Given the description of an element on the screen output the (x, y) to click on. 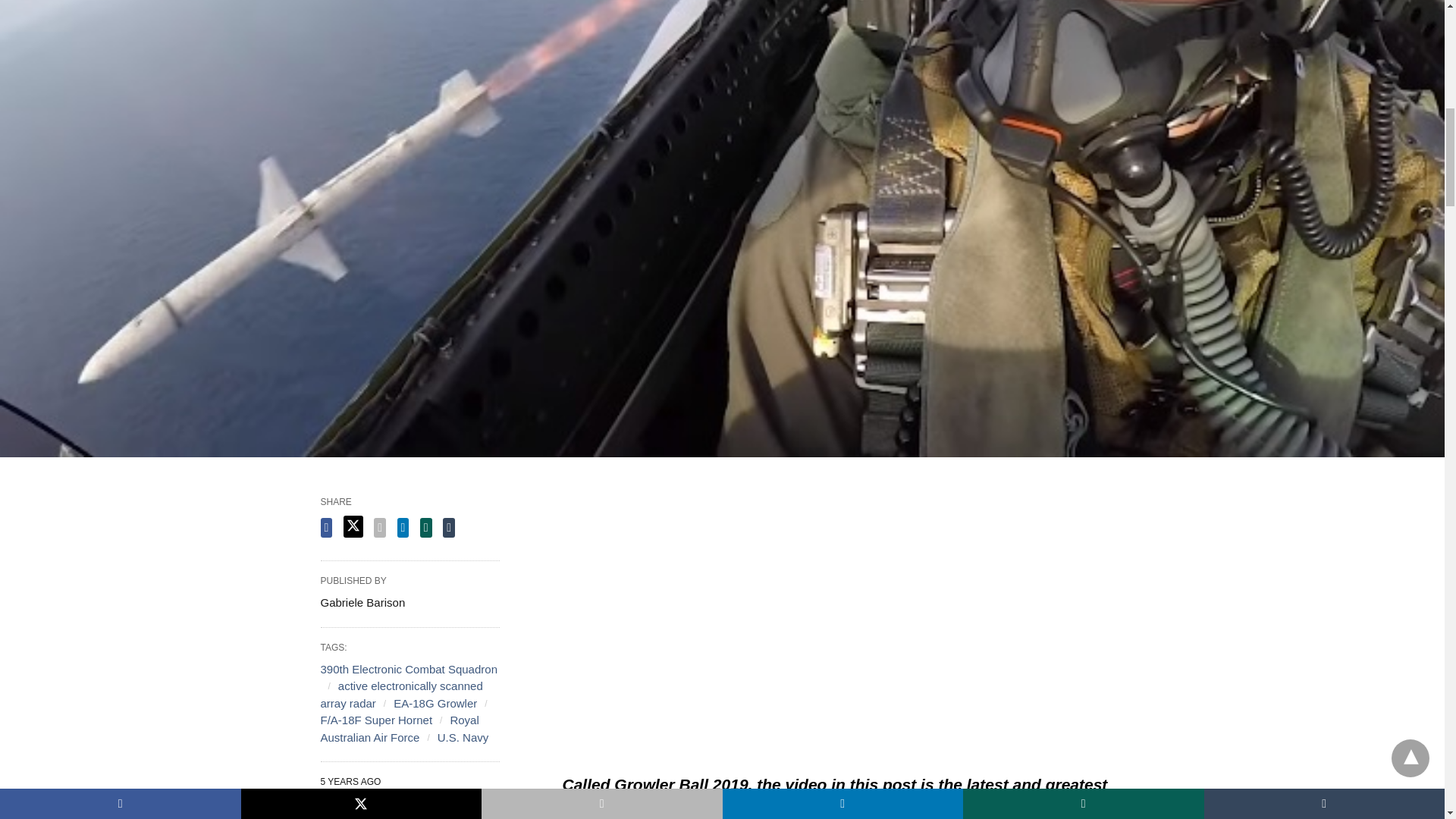
Royal Australian Air Force (399, 728)
EA-18G Growler (435, 703)
U.S. Navy (463, 737)
active electronically scanned array radar (400, 694)
390th Electronic Combat Squadron (408, 668)
